Given the description of an element on the screen output the (x, y) to click on. 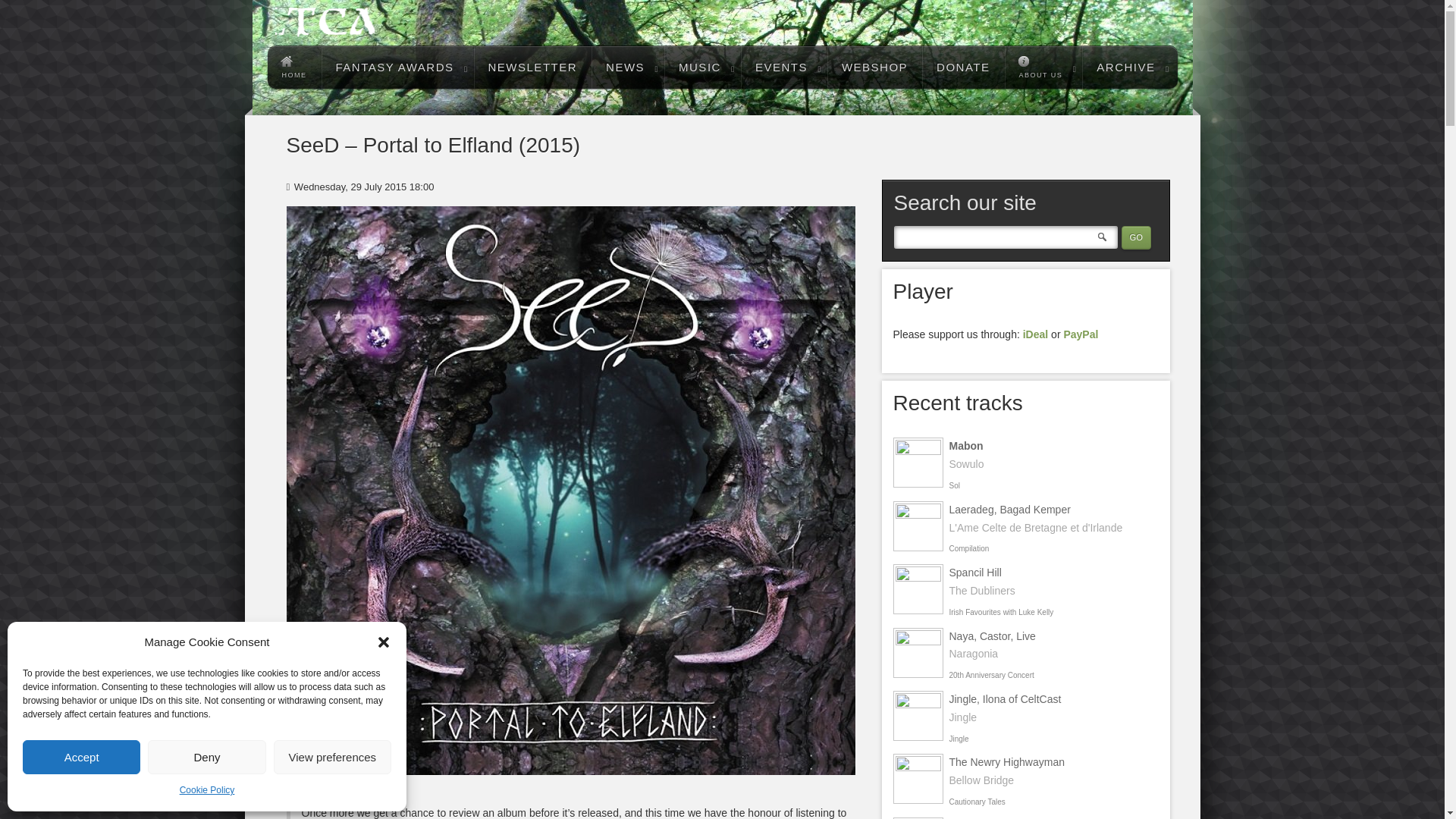
 HOME (293, 66)
Cookie Policy (206, 791)
Accept (81, 756)
View preferences (332, 756)
WEBSHOP (874, 66)
MUSIC (702, 66)
NEWS (627, 66)
FANTASY AWARDS (397, 66)
NEWSLETTER (533, 66)
EVENTS (784, 66)
 ABOUT US (1042, 66)
DONATE (962, 66)
Go (1135, 237)
Deny (206, 756)
